Given the description of an element on the screen output the (x, y) to click on. 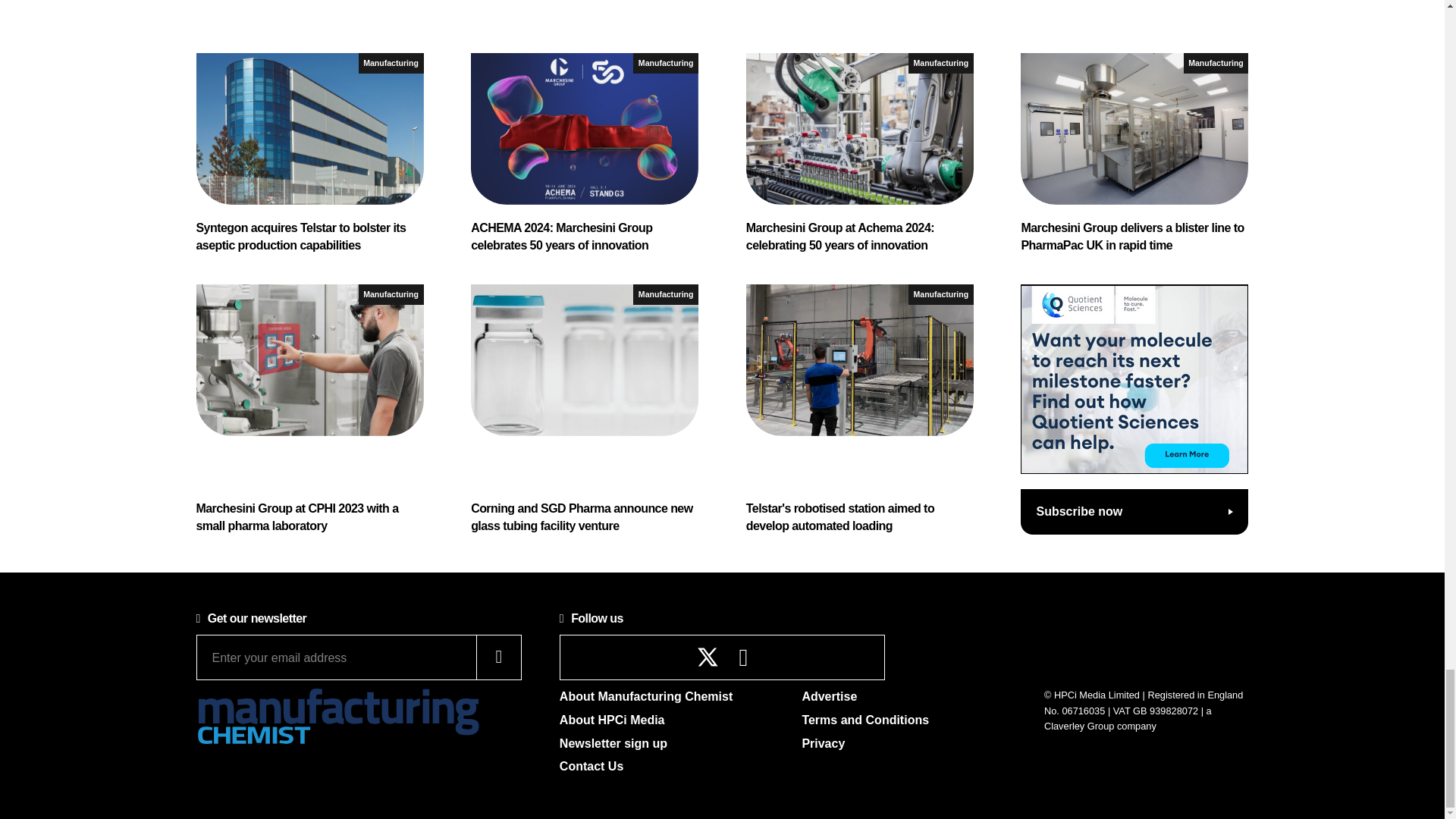
Follow Manufacturing Chemist on X (708, 657)
